Given the description of an element on the screen output the (x, y) to click on. 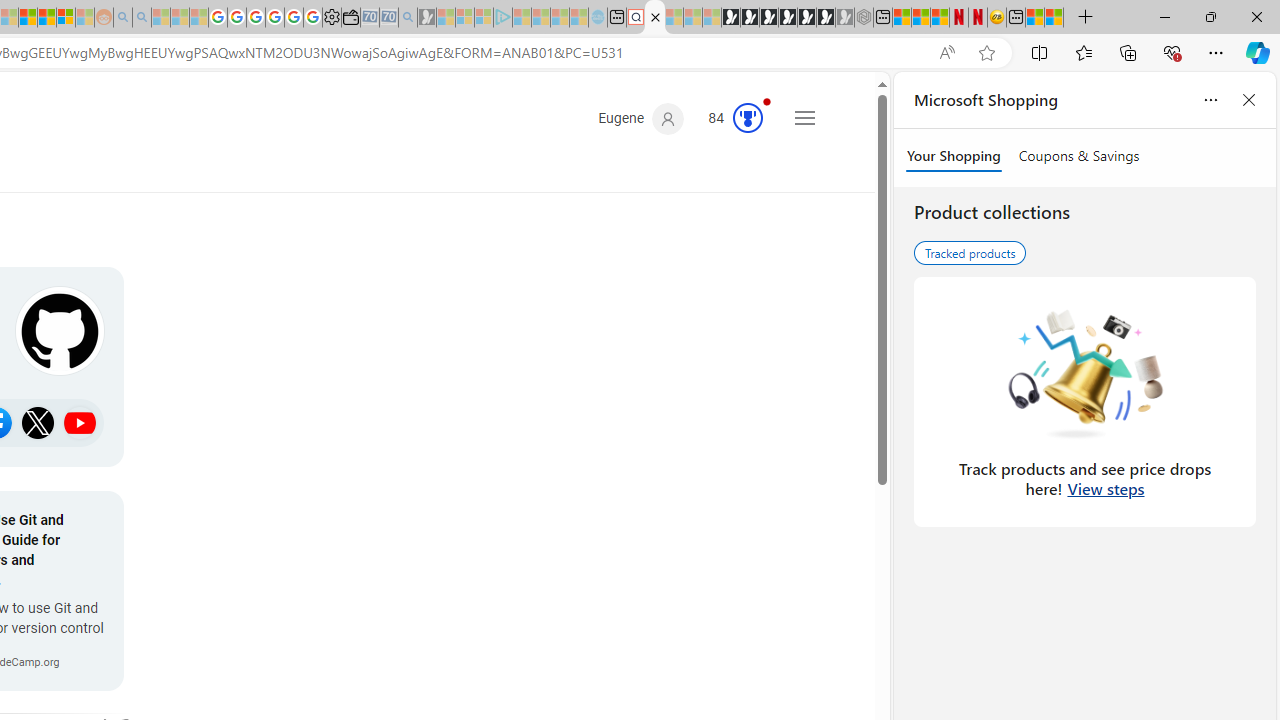
AutomationID: serp_medal_svg (748, 117)
AutomationID: rh_meter (748, 117)
Eugene (640, 119)
